Given the description of an element on the screen output the (x, y) to click on. 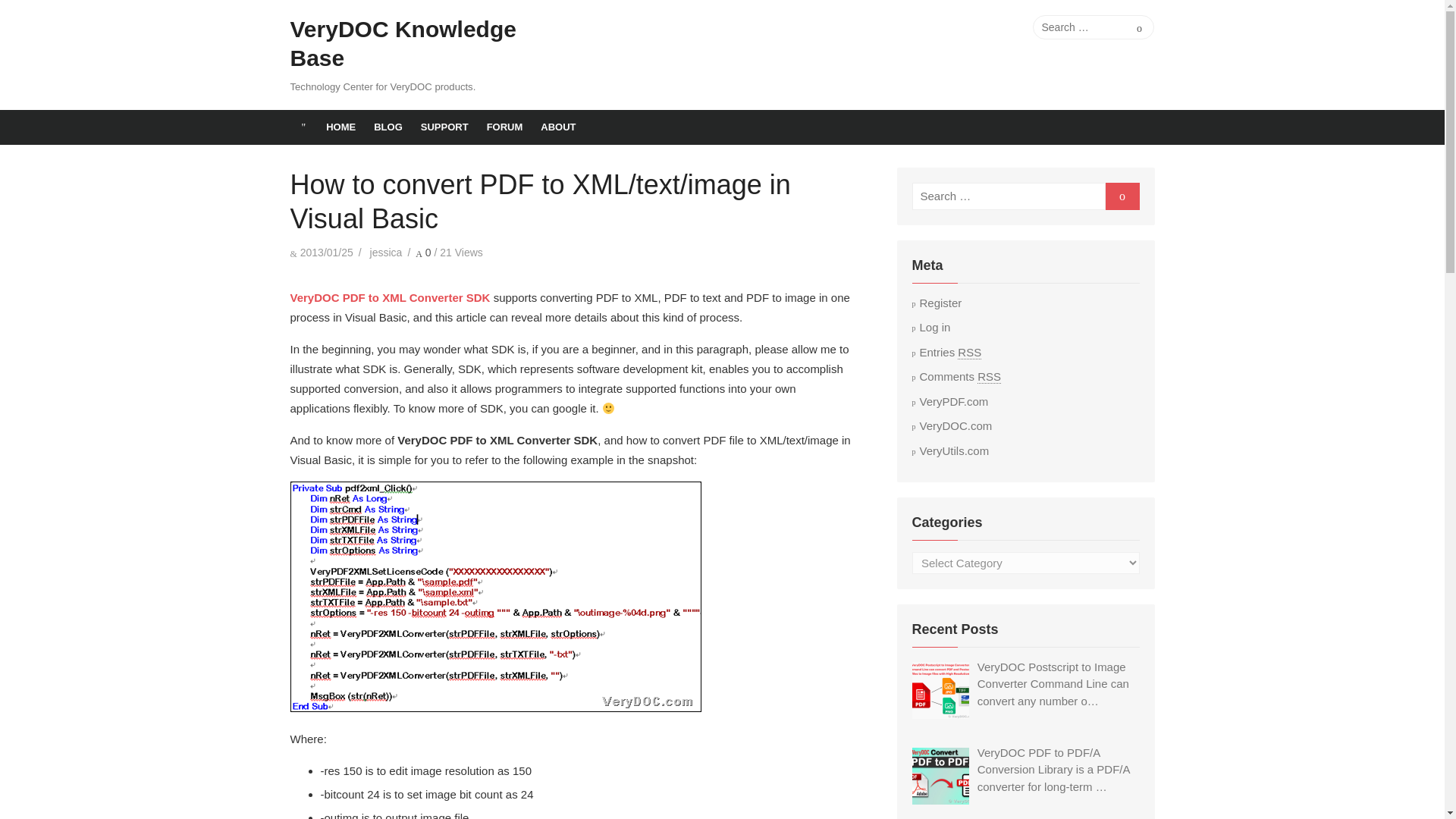
VeryDOC Knowledge Base (428, 43)
VeryDOC PDF to XML Converter SDK (389, 297)
SUPPORT (444, 126)
ABOUT (558, 126)
BLOG (388, 126)
jessica (386, 252)
HOME (341, 126)
FORUM (504, 126)
